Given the description of an element on the screen output the (x, y) to click on. 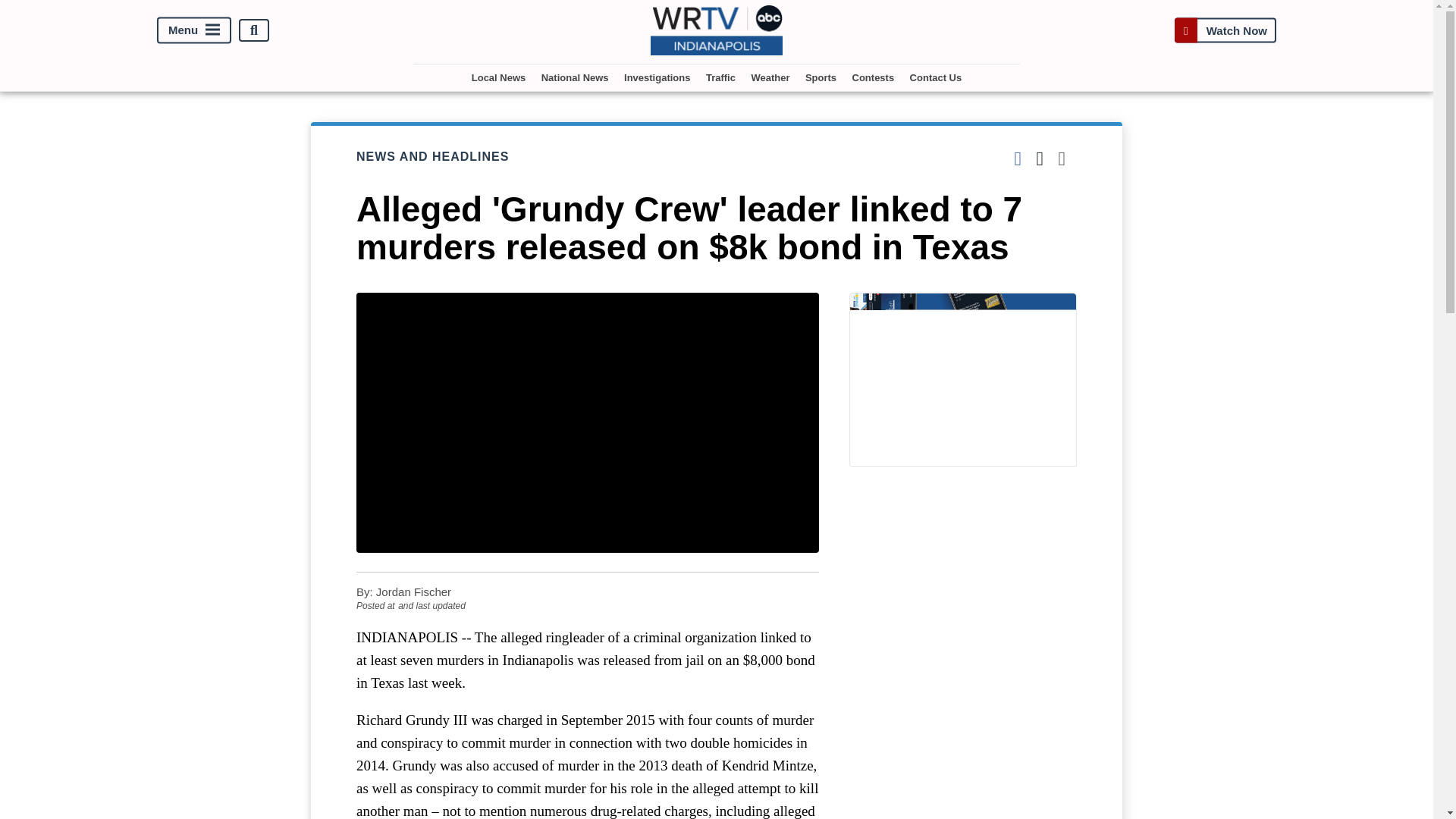
Watch Now (1224, 30)
Menu (194, 30)
